Given the description of an element on the screen output the (x, y) to click on. 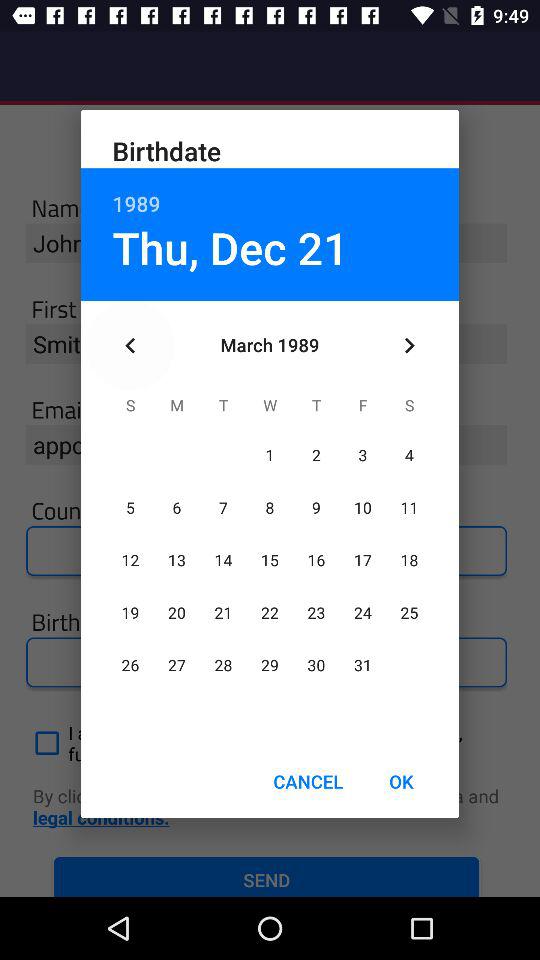
choose the icon on the right (408, 345)
